Given the description of an element on the screen output the (x, y) to click on. 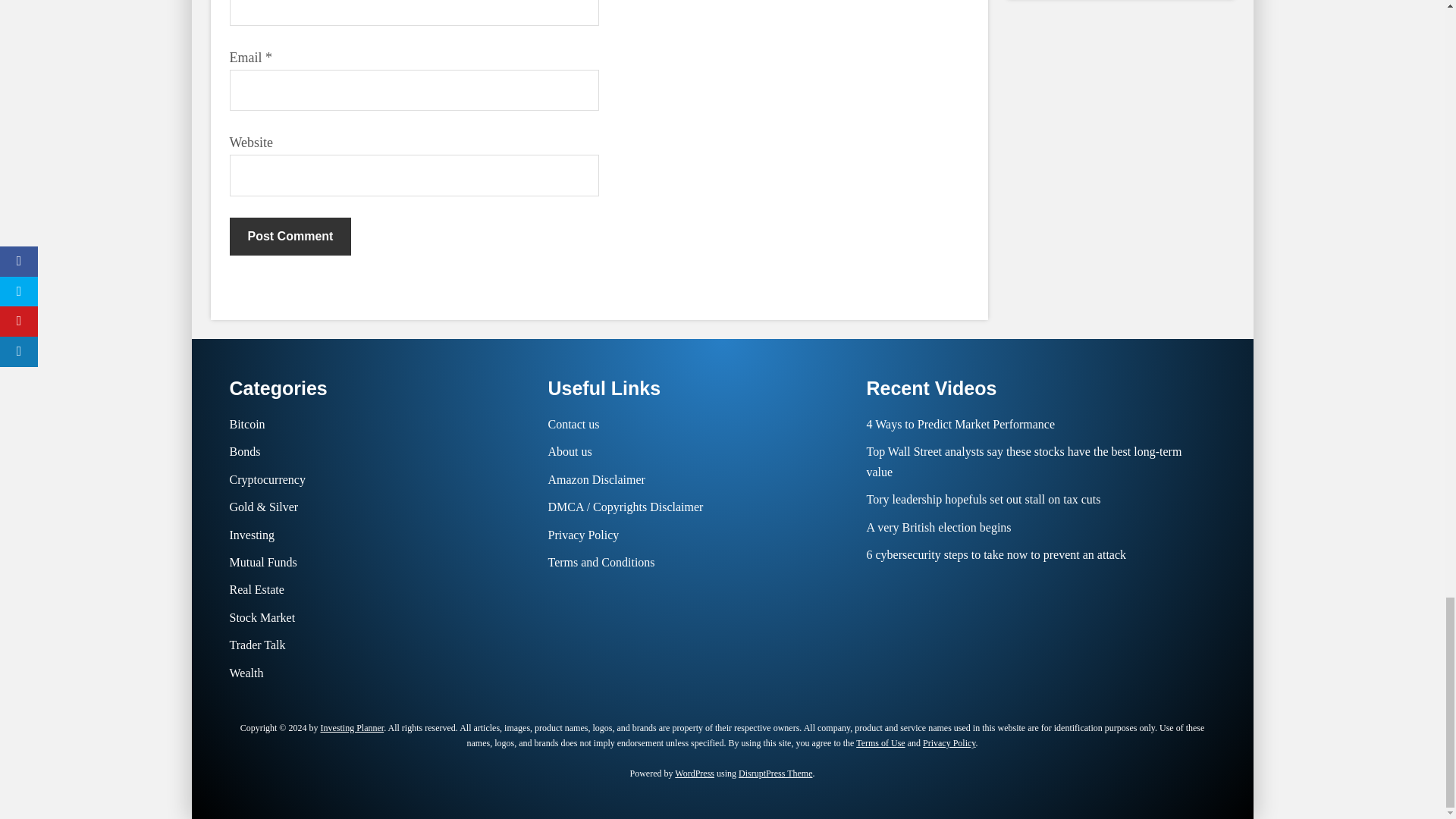
Post Comment (289, 236)
